Given the description of an element on the screen output the (x, y) to click on. 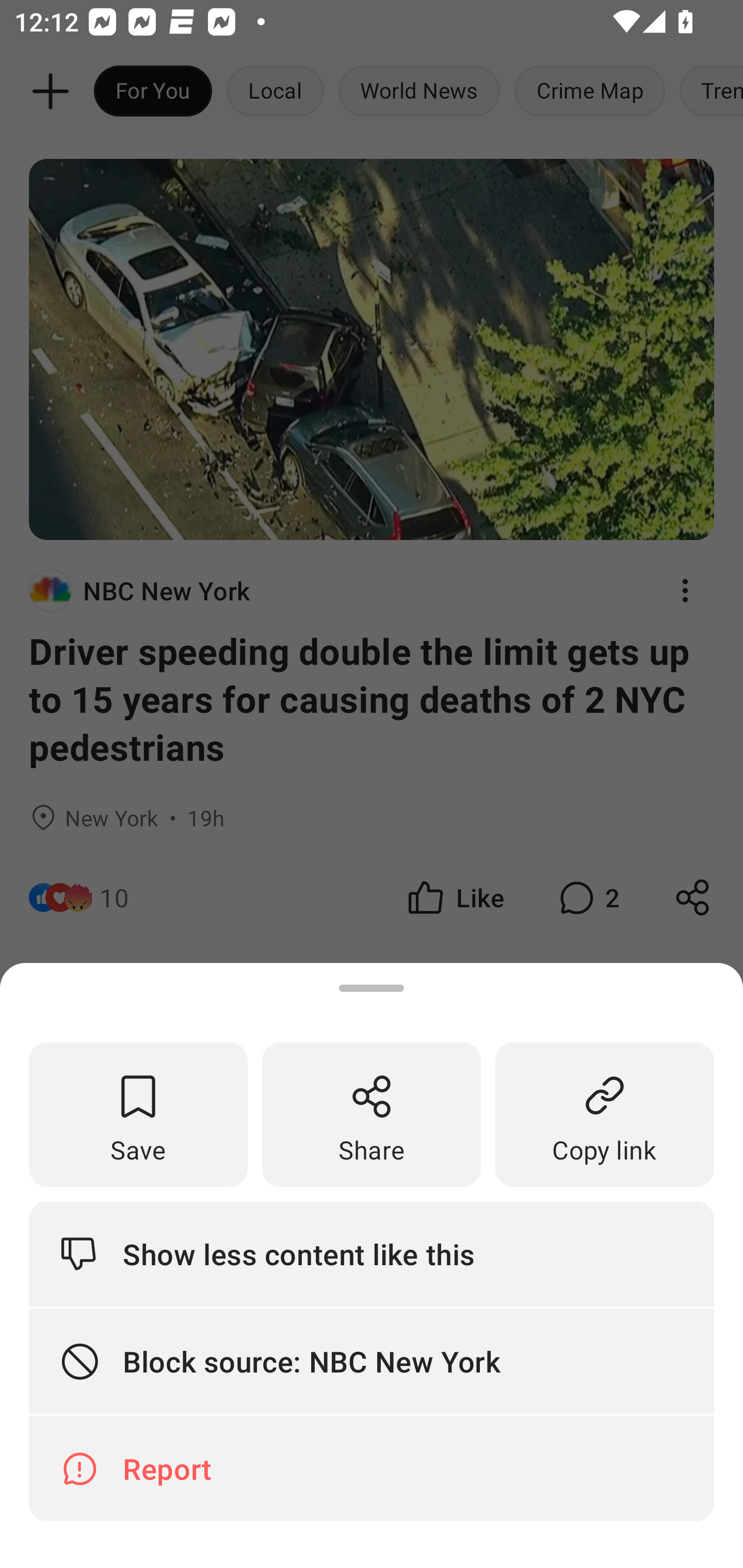
Save (137, 1114)
Share (371, 1114)
Copy link (604, 1114)
Show less content like this (371, 1253)
Block source: NBC New York (371, 1361)
Report (371, 1467)
